Given the description of an element on the screen output the (x, y) to click on. 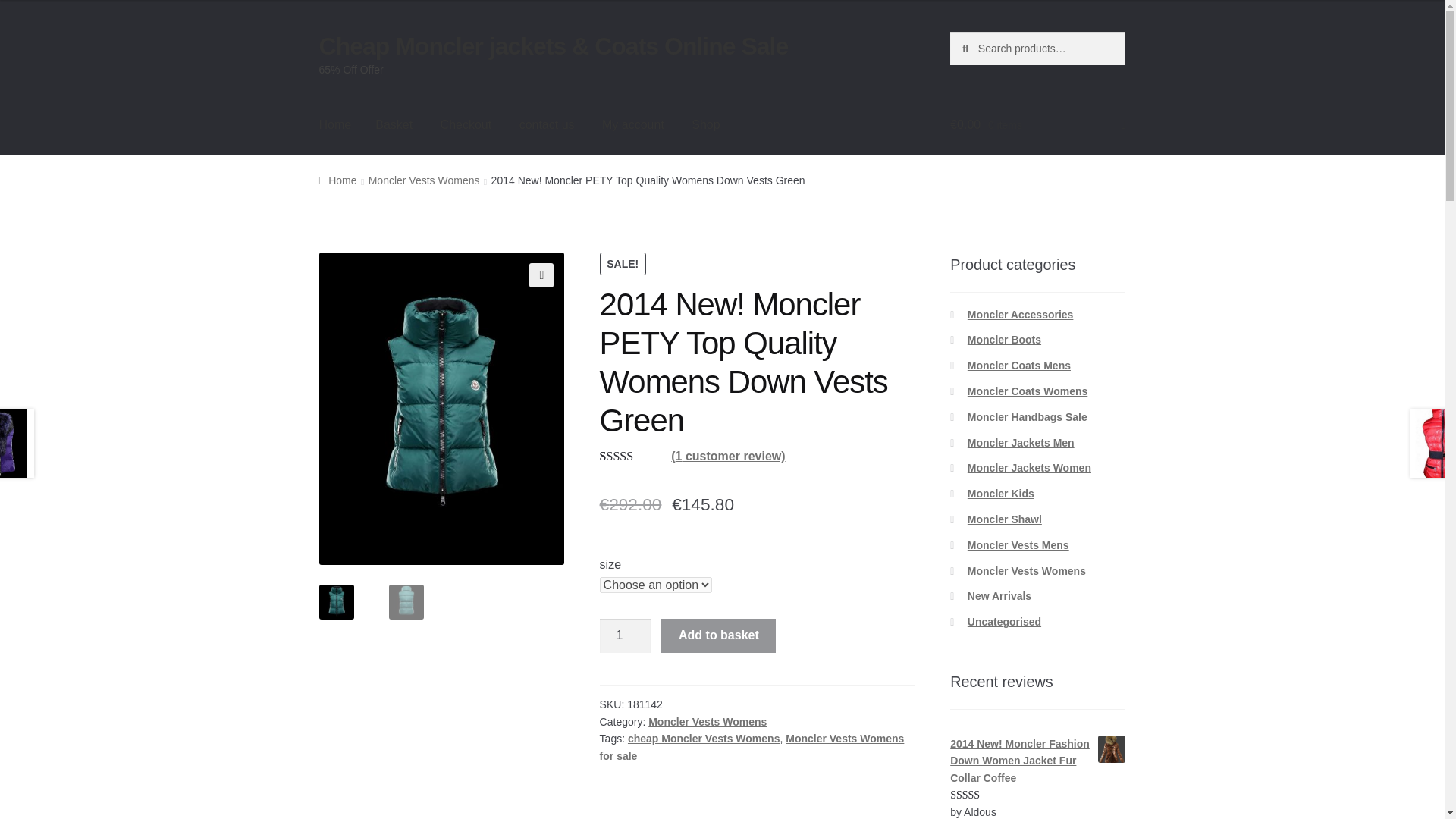
Moncler Vests Womens (707, 721)
Checkout (465, 124)
View your shopping basket (1037, 124)
Home (335, 124)
1 (624, 636)
Moncler Vests Womens (424, 180)
My account (633, 124)
cheap Moncler Vests Womens (702, 738)
